Given the description of an element on the screen output the (x, y) to click on. 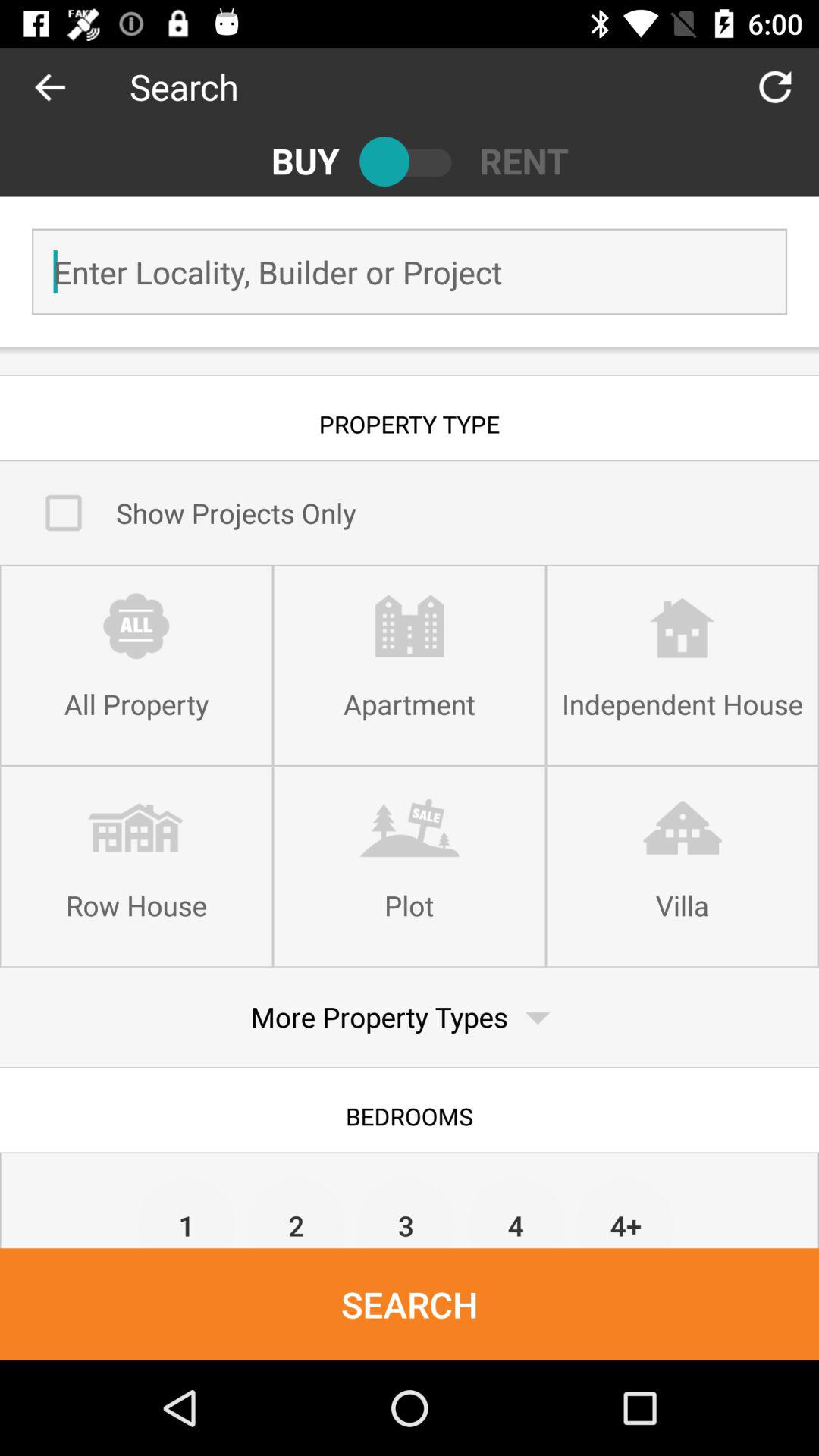
turn off item below bedrooms item (406, 1212)
